Given the description of an element on the screen output the (x, y) to click on. 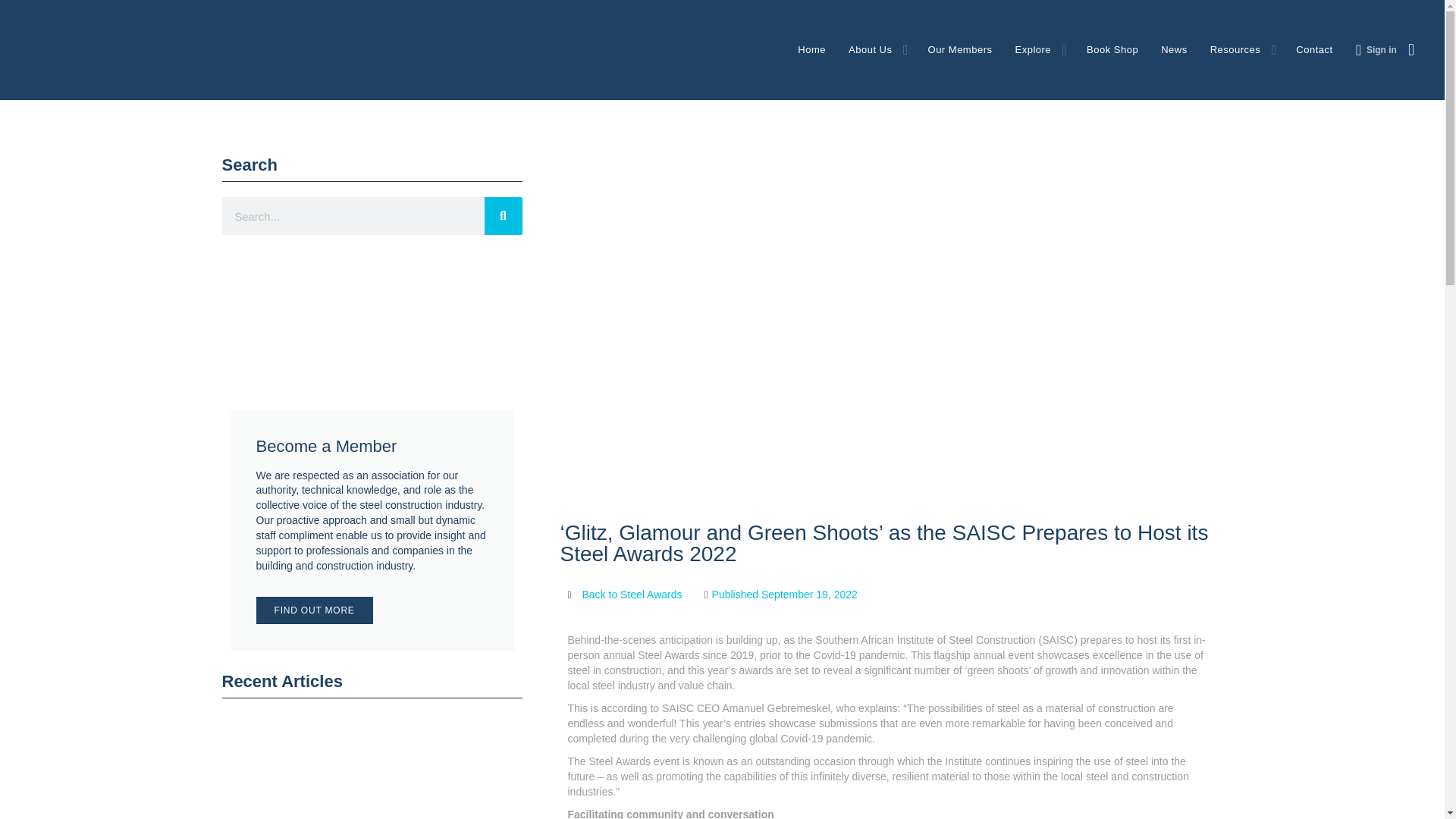
Resources (1234, 50)
Book Shop (1112, 50)
Explore (1032, 50)
Sign in (1381, 49)
Contact (1313, 50)
FIND OUT MORE (314, 610)
About Us (869, 50)
Home (811, 50)
News (1174, 50)
Our Members (960, 50)
